Given the description of an element on the screen output the (x, y) to click on. 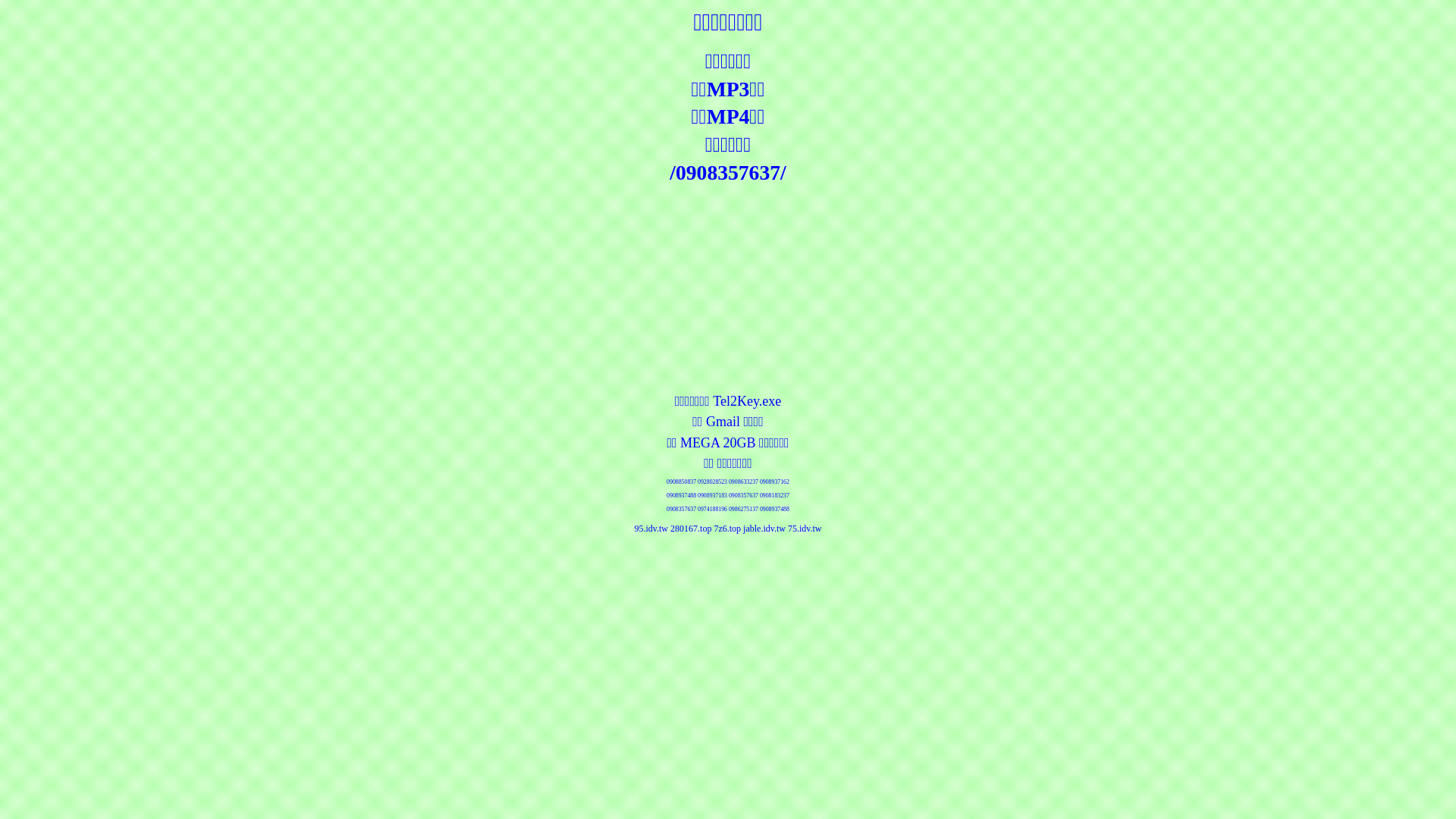
0908937488 Element type: text (774, 508)
0908183237 Element type: text (774, 495)
0908357637 Element type: text (681, 508)
0908633237 Element type: text (743, 481)
0986275137 Element type: text (743, 508)
0908850837 Element type: text (681, 481)
jable.idv.tw Element type: text (764, 528)
0908937183 Element type: text (712, 495)
/0908357637/ Element type: text (727, 172)
0928028523 Element type: text (712, 481)
75.idv.tw Element type: text (804, 528)
0908937162 Element type: text (774, 481)
0908937488 Element type: text (681, 495)
0974188196 Element type: text (712, 508)
7z6.top Element type: text (726, 528)
0908357637 Element type: text (743, 495)
280167.top Element type: text (690, 528)
95.idv.tw Element type: text (650, 528)
